Given the description of an element on the screen output the (x, y) to click on. 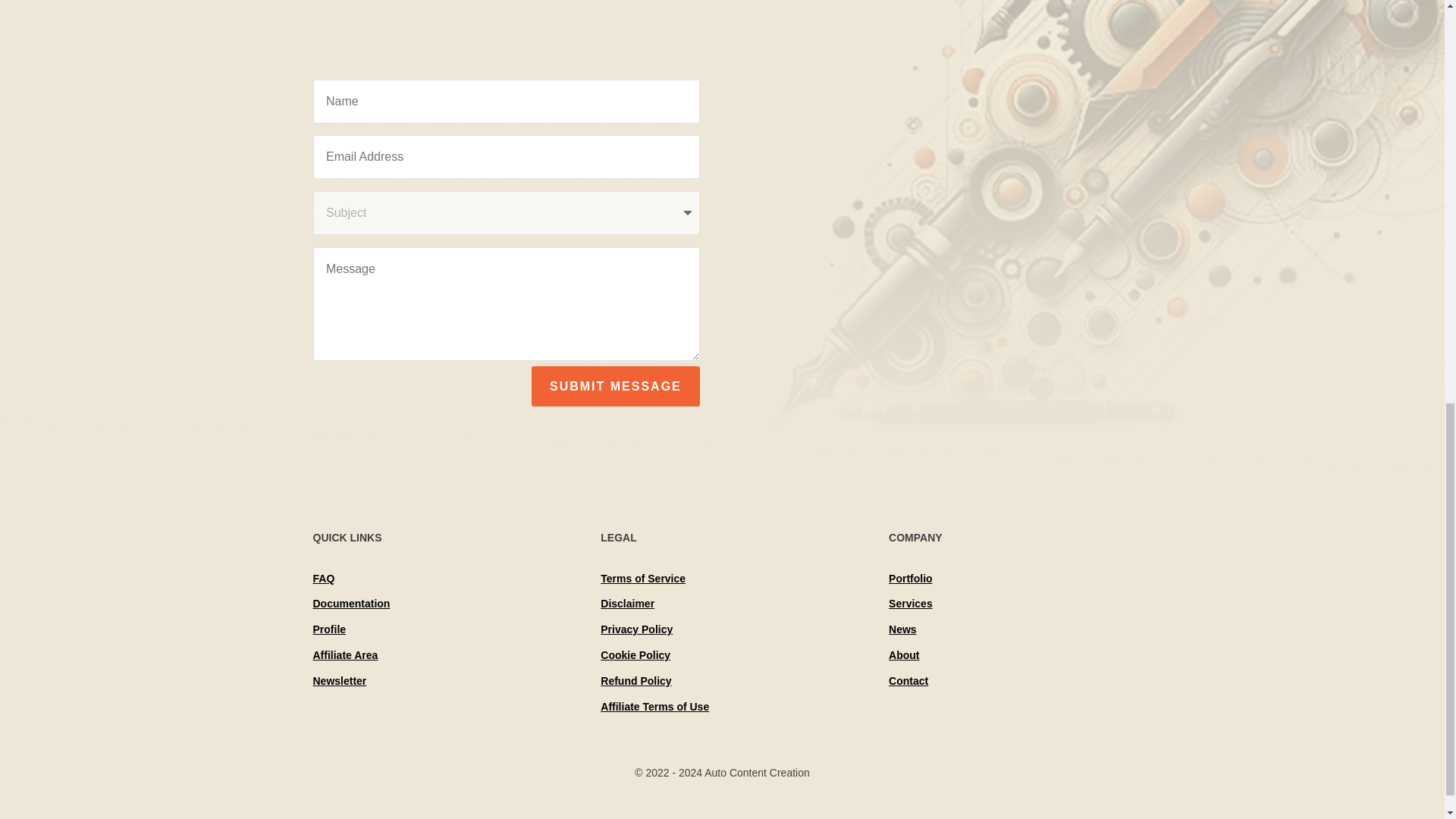
Portfolio (910, 578)
Documentation (351, 603)
Refund Policy (635, 680)
Documentation (351, 603)
Affiliate Area (345, 654)
Contact (908, 680)
Affiliate Terms of Use (654, 706)
Cookie Policy (634, 654)
Newsletter (339, 680)
Terms of Service (642, 578)
